Given the description of an element on the screen output the (x, y) to click on. 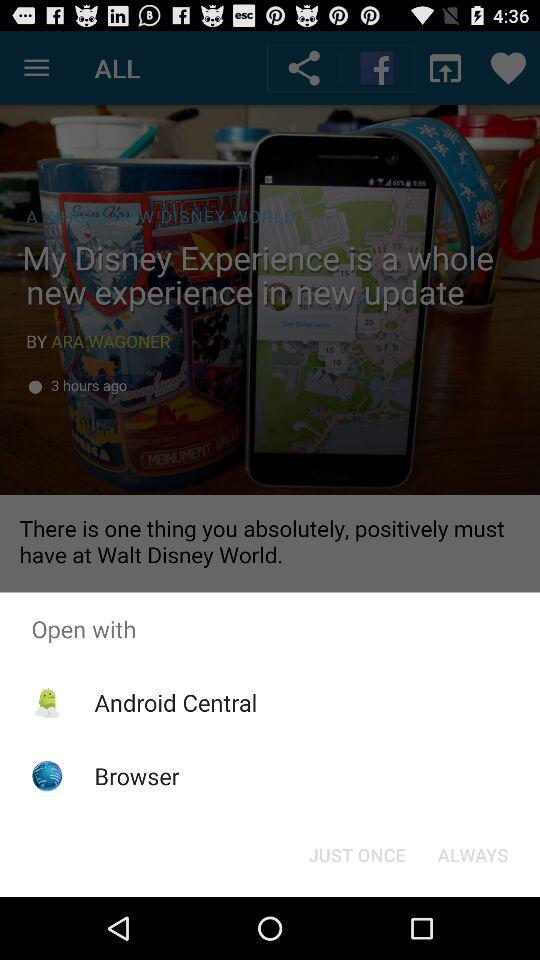
turn off icon next to always (356, 854)
